Given the description of an element on the screen output the (x, y) to click on. 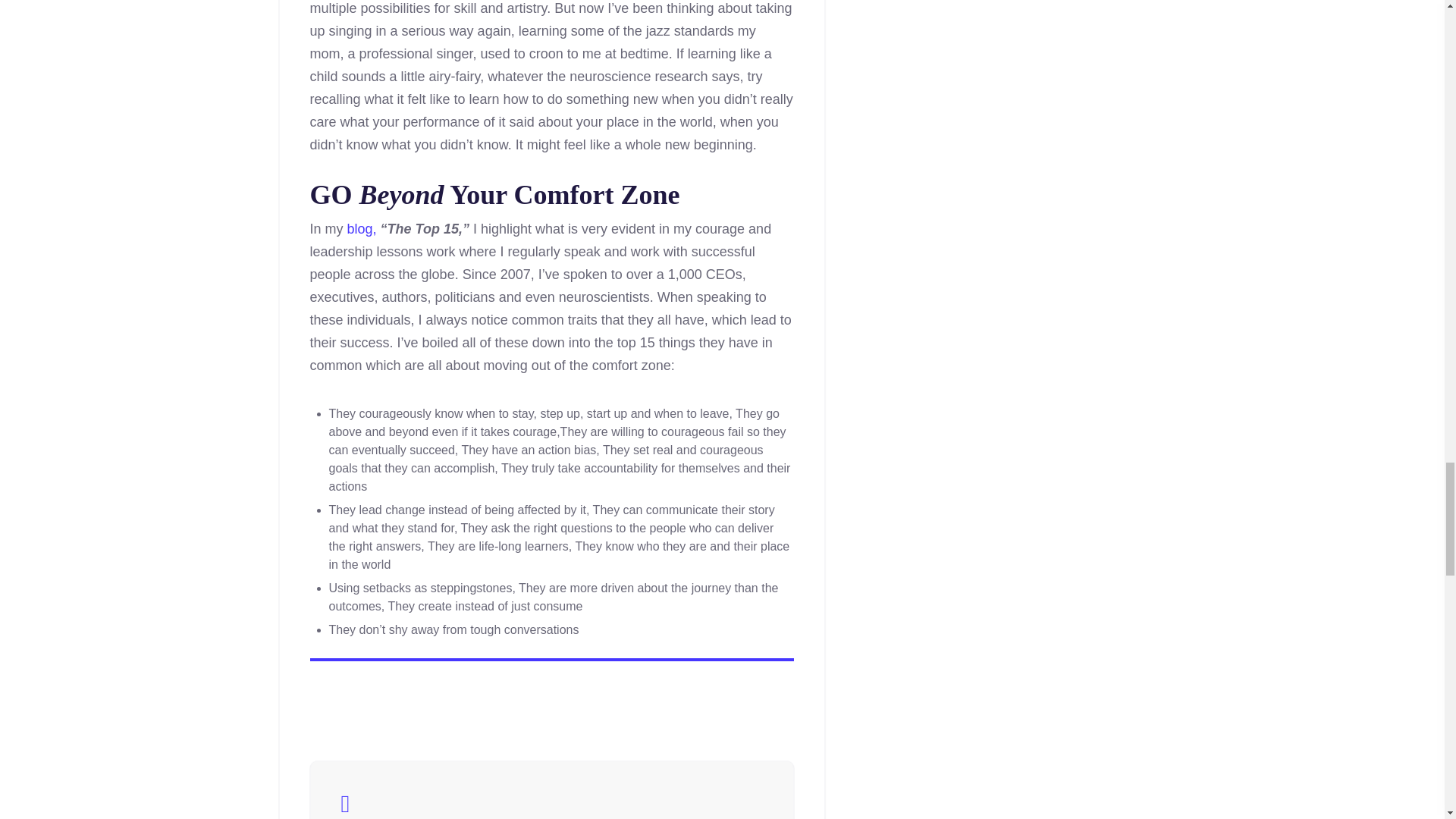
blog, (362, 228)
